Given the description of an element on the screen output the (x, y) to click on. 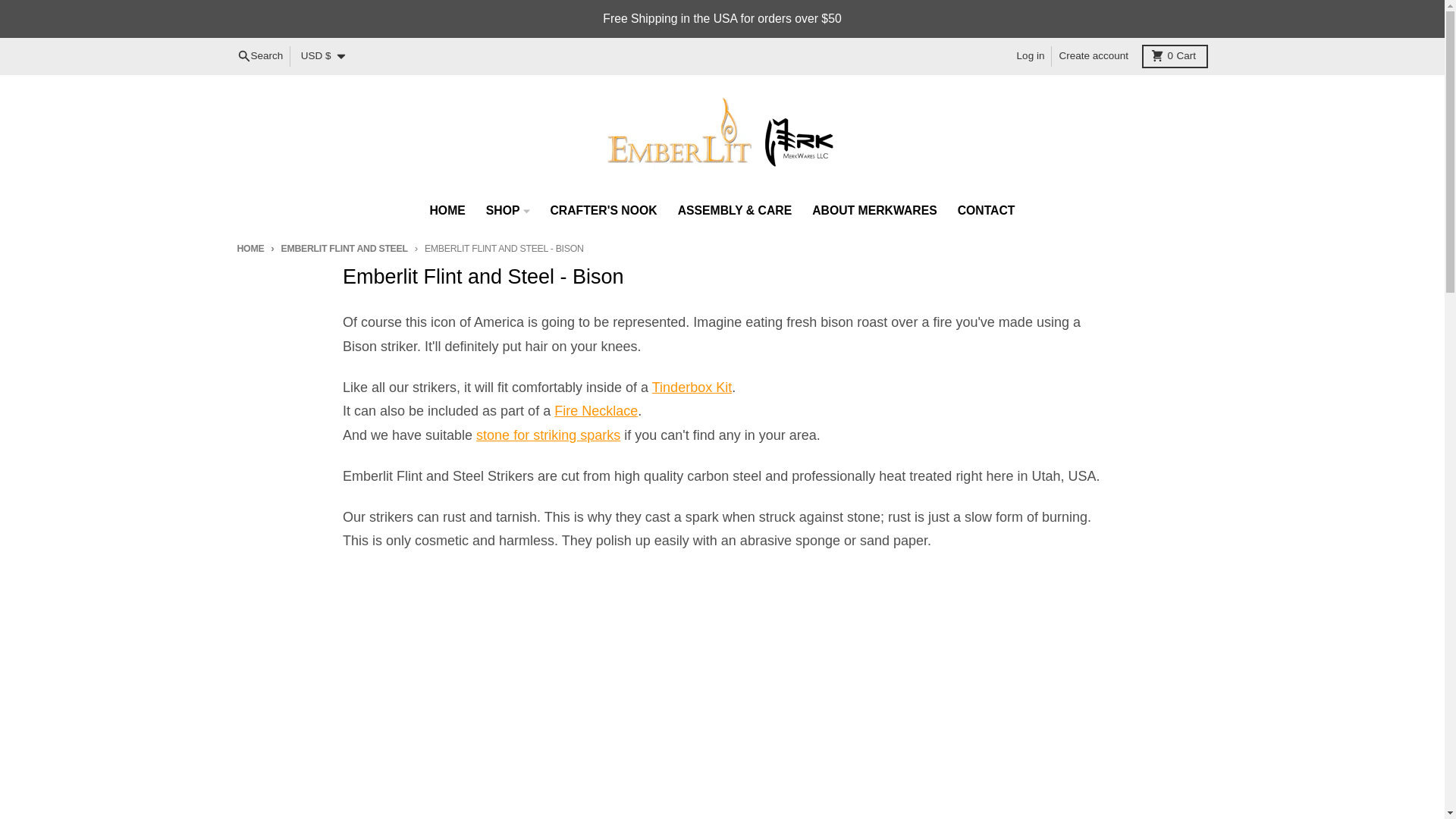
CONTACT (986, 210)
stone for striking (548, 435)
fire starter necklace (595, 410)
Back to the homepage (249, 247)
ABOUT MERKWARES (1174, 55)
CRAFTER'S NOOK (874, 210)
Create account (603, 210)
Search (1093, 55)
tinderbox addon (259, 55)
Log in (692, 387)
HOME (1030, 55)
